Given the description of an element on the screen output the (x, y) to click on. 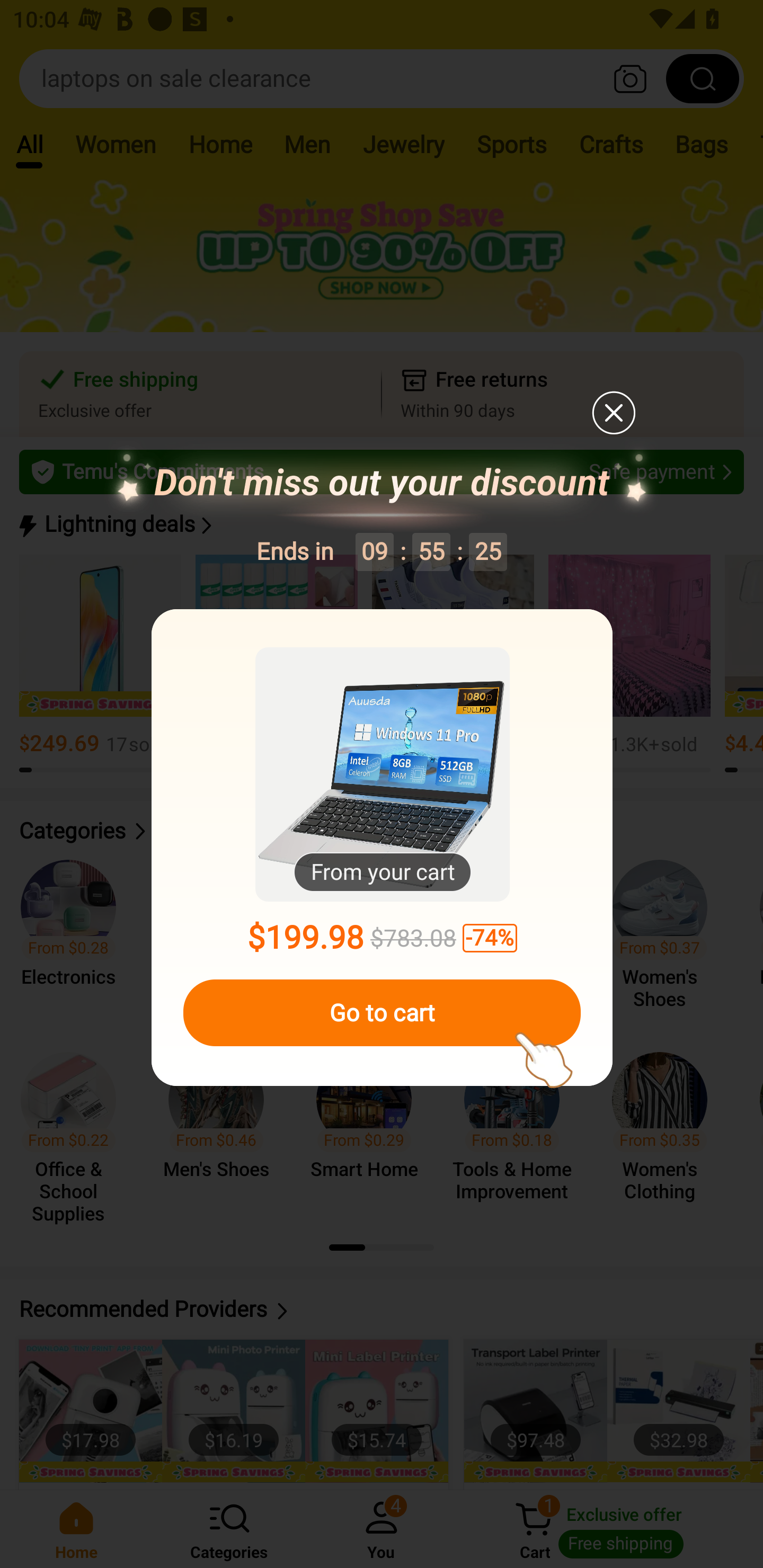
 (612, 412)
From your cart $199.98 $783.08 -74% Go to cart (381, 847)
Go to cart (381, 1012)
